Given the description of an element on the screen output the (x, y) to click on. 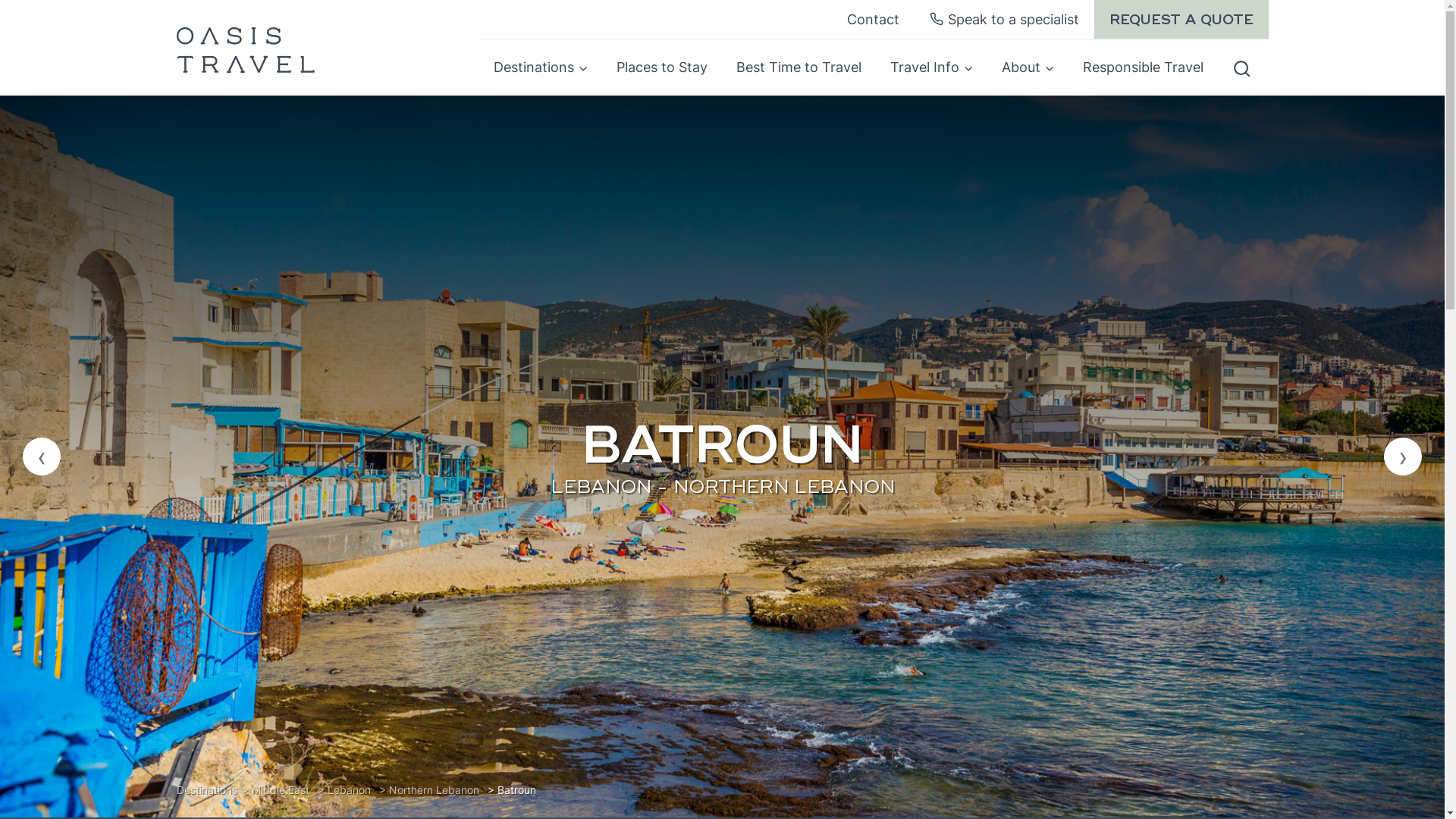
About Element type: text (1027, 66)
Best Time to Travel Element type: text (798, 66)
Places to Stay Element type: text (661, 66)
Travel Info Element type: text (931, 66)
> Northern Lebanon Element type: text (429, 789)
Responsible Travel Element type: text (1142, 66)
> Middle East Element type: text (274, 789)
Destinations Element type: text (205, 789)
Contact Element type: text (872, 19)
Destinations Element type: text (540, 66)
Speak to a specialist Element type: text (1003, 19)
REQUEST A QUOTE Element type: text (1180, 19)
> Lebanon Element type: text (343, 789)
